Given the description of an element on the screen output the (x, y) to click on. 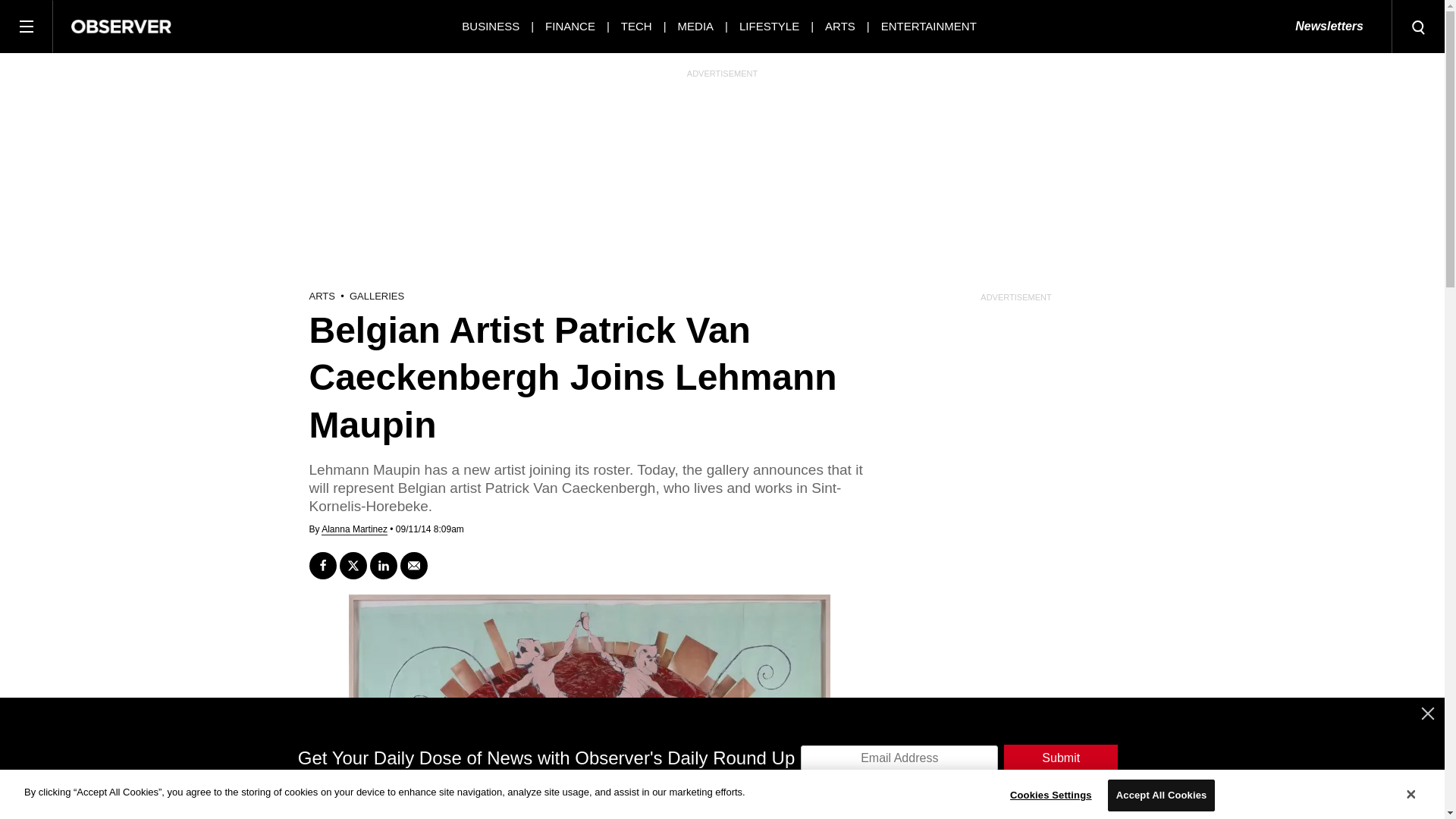
Tweet (352, 565)
FINANCE (569, 25)
Share on LinkedIn (383, 565)
MEDIA (696, 25)
LIFESTYLE (769, 25)
BUSINESS (490, 25)
Observer (121, 26)
ENTERTAINMENT (928, 25)
Send email (414, 565)
ARTS (840, 25)
Share on Facebook (322, 565)
Newsletters (1329, 26)
View All Posts by Alanna Martinez (354, 529)
TECH (636, 25)
